Given the description of an element on the screen output the (x, y) to click on. 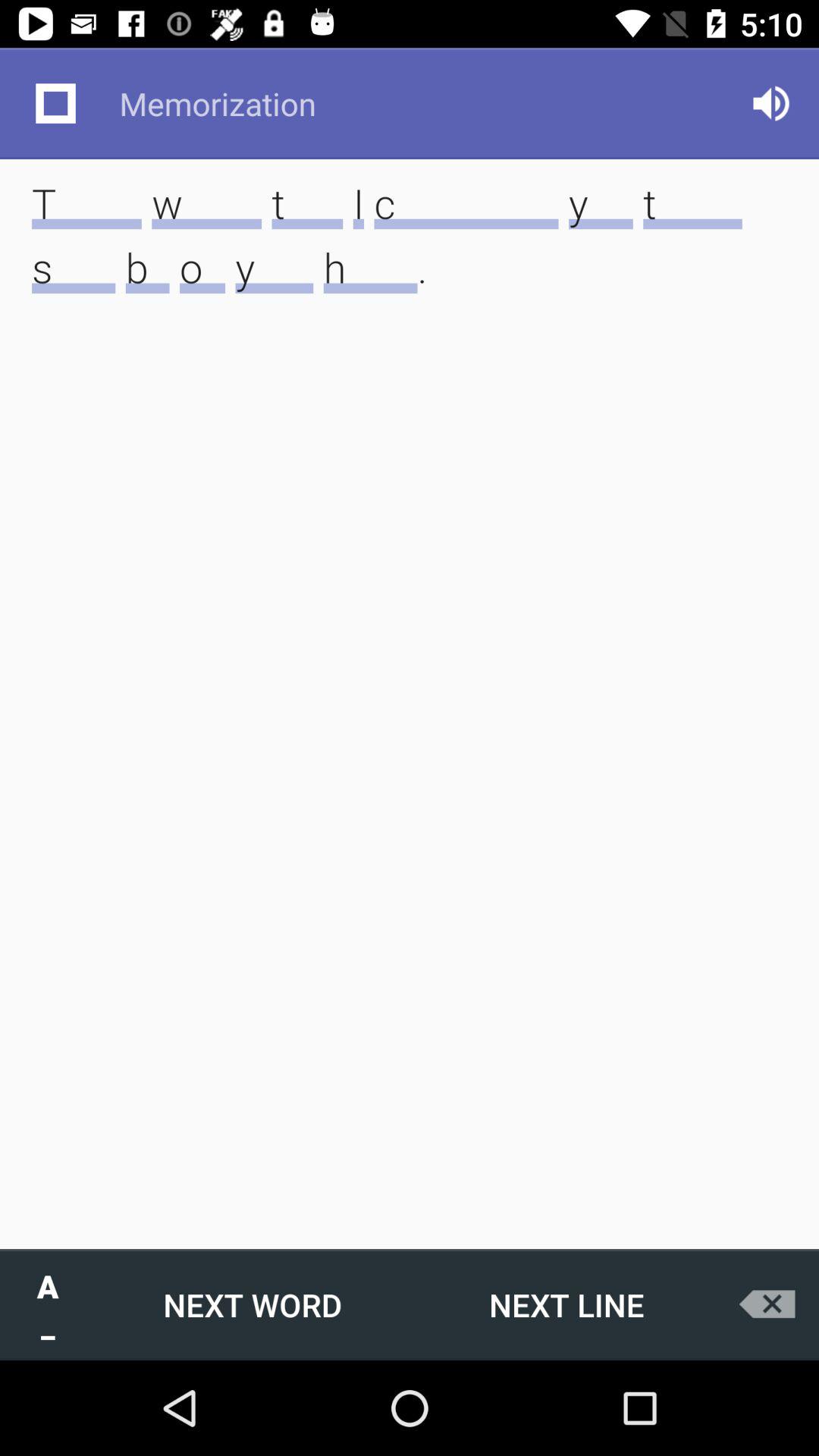
choose icon below these words that (566, 1304)
